Given the description of an element on the screen output the (x, y) to click on. 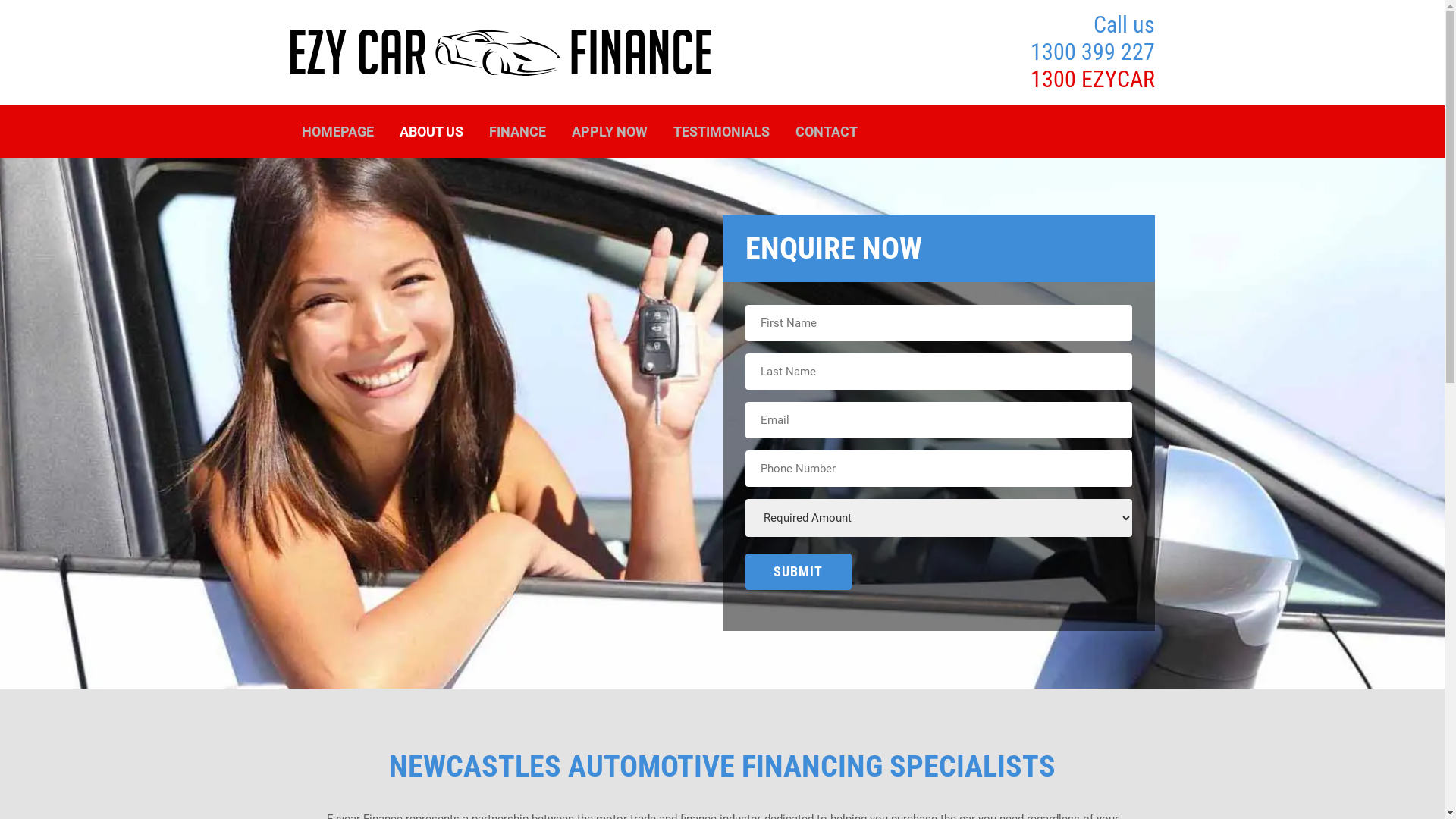
FINANCE Element type: text (516, 131)
Submit Element type: text (797, 571)
APPLY NOW Element type: text (609, 131)
ezycar-finance-logo-lge Element type: hover (499, 51)
HOMEPAGE Element type: text (337, 131)
1300 399 227 Element type: text (1091, 51)
TESTIMONIALS Element type: text (721, 131)
ABOUT US Element type: text (430, 131)
CONTACT Element type: text (825, 131)
